Given the description of an element on the screen output the (x, y) to click on. 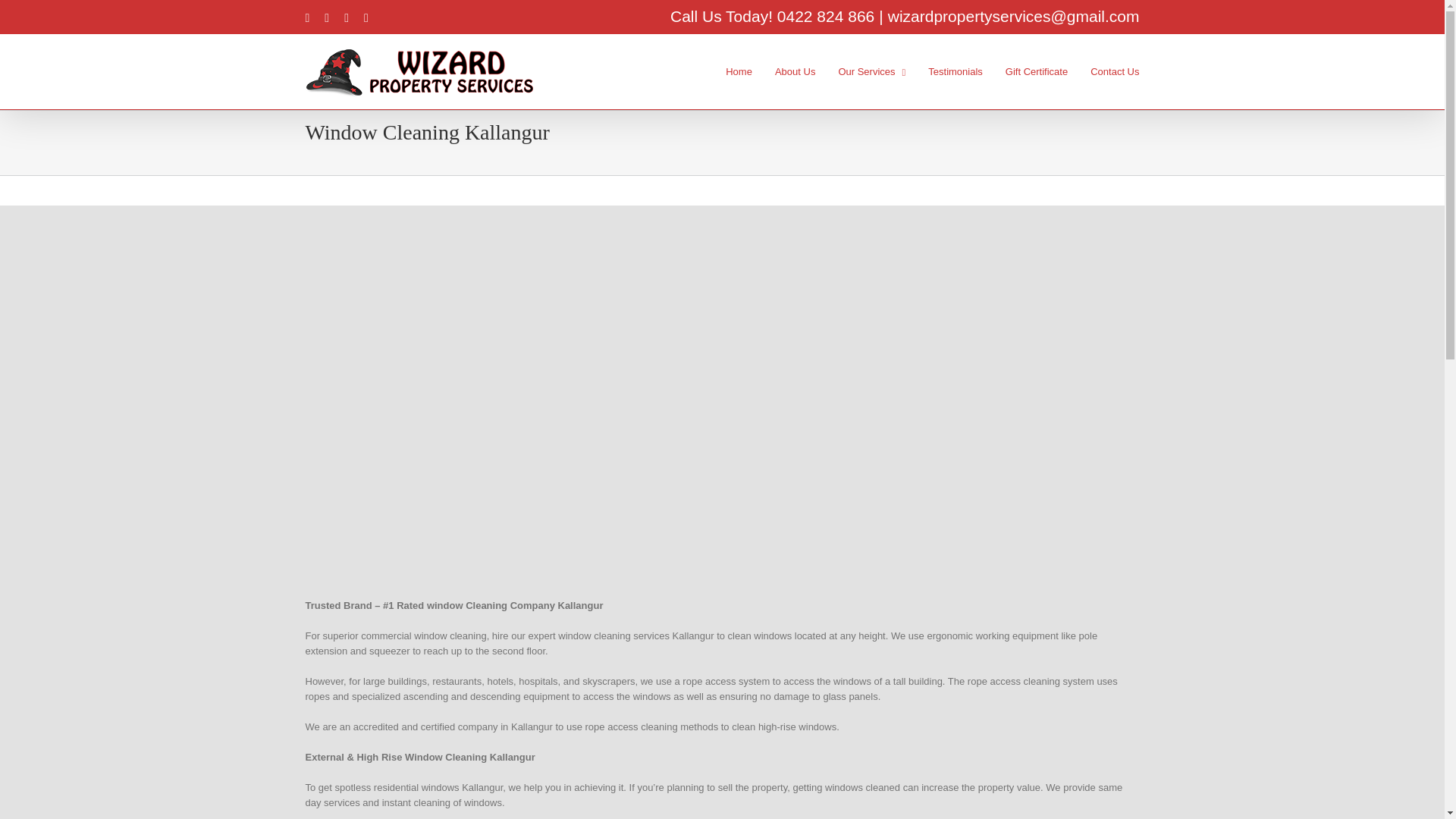
Our Services (871, 71)
0422 824 866 (826, 16)
